Given the description of an element on the screen output the (x, y) to click on. 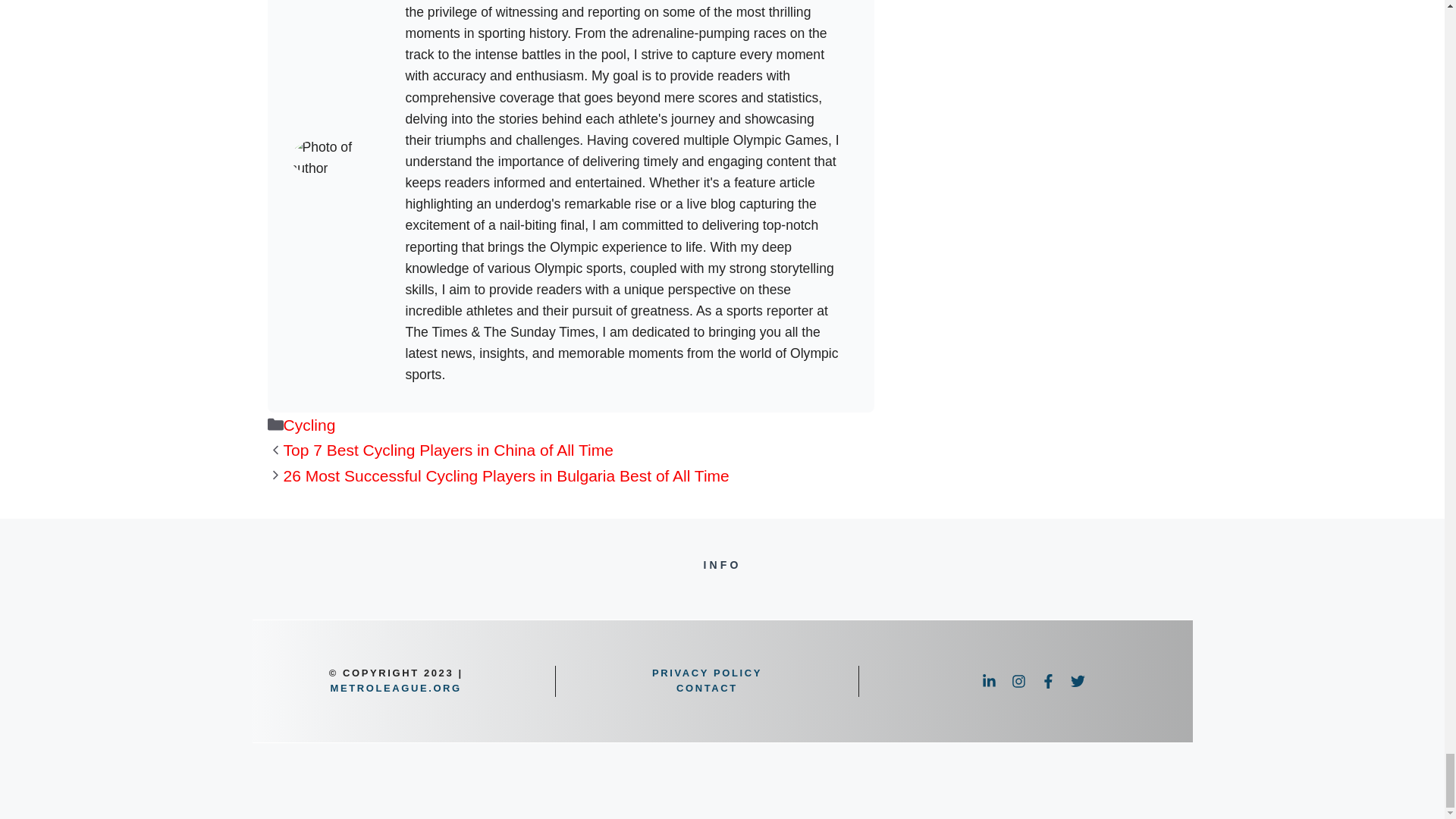
Top 7 Best Cycling Players in China of All Time (447, 449)
Cycling (309, 425)
